Given the description of an element on the screen output the (x, y) to click on. 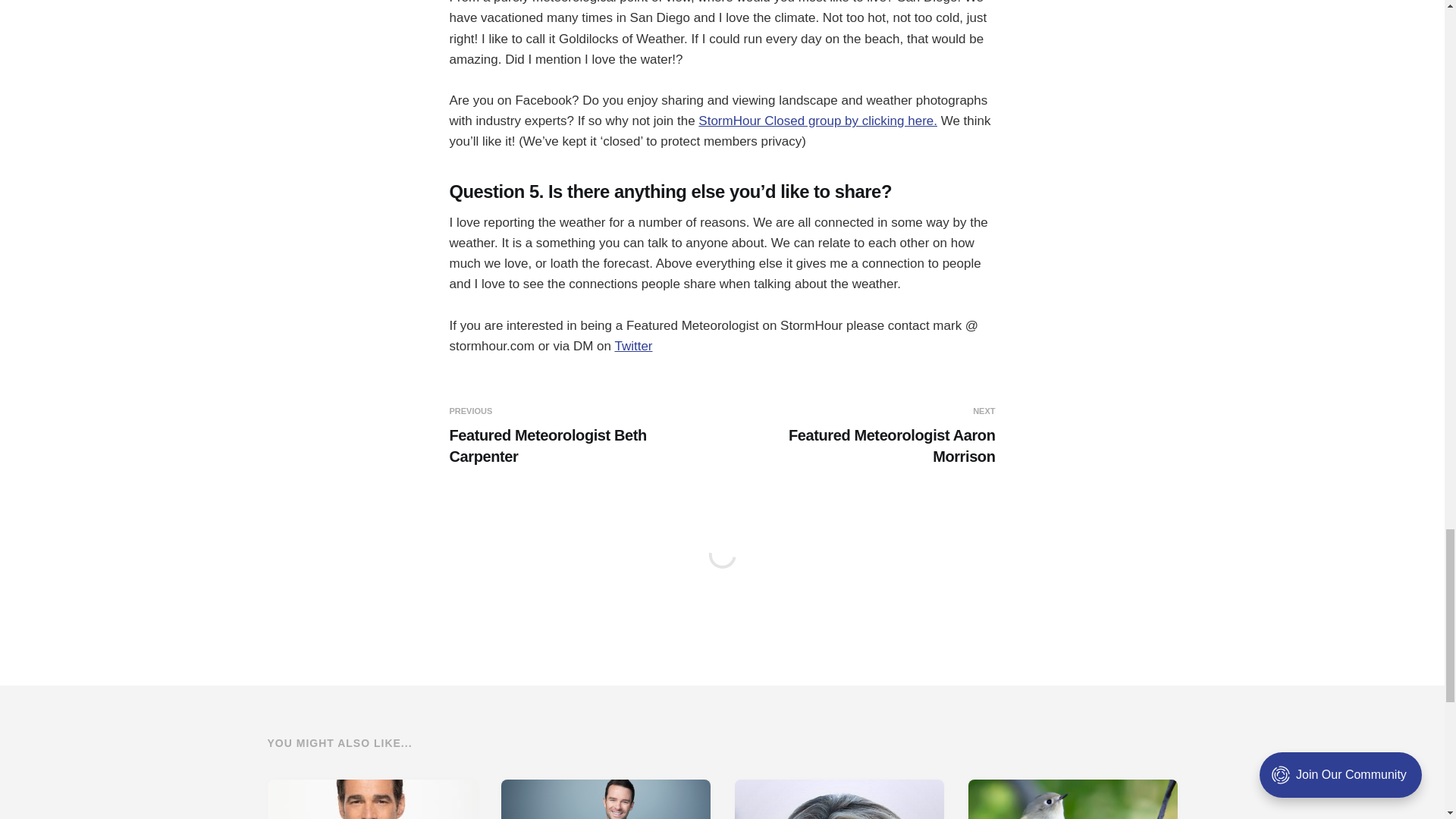
Twitter (633, 345)
comments-frame (721, 572)
StormHour Closed group by clicking here. (817, 120)
